Given the description of an element on the screen output the (x, y) to click on. 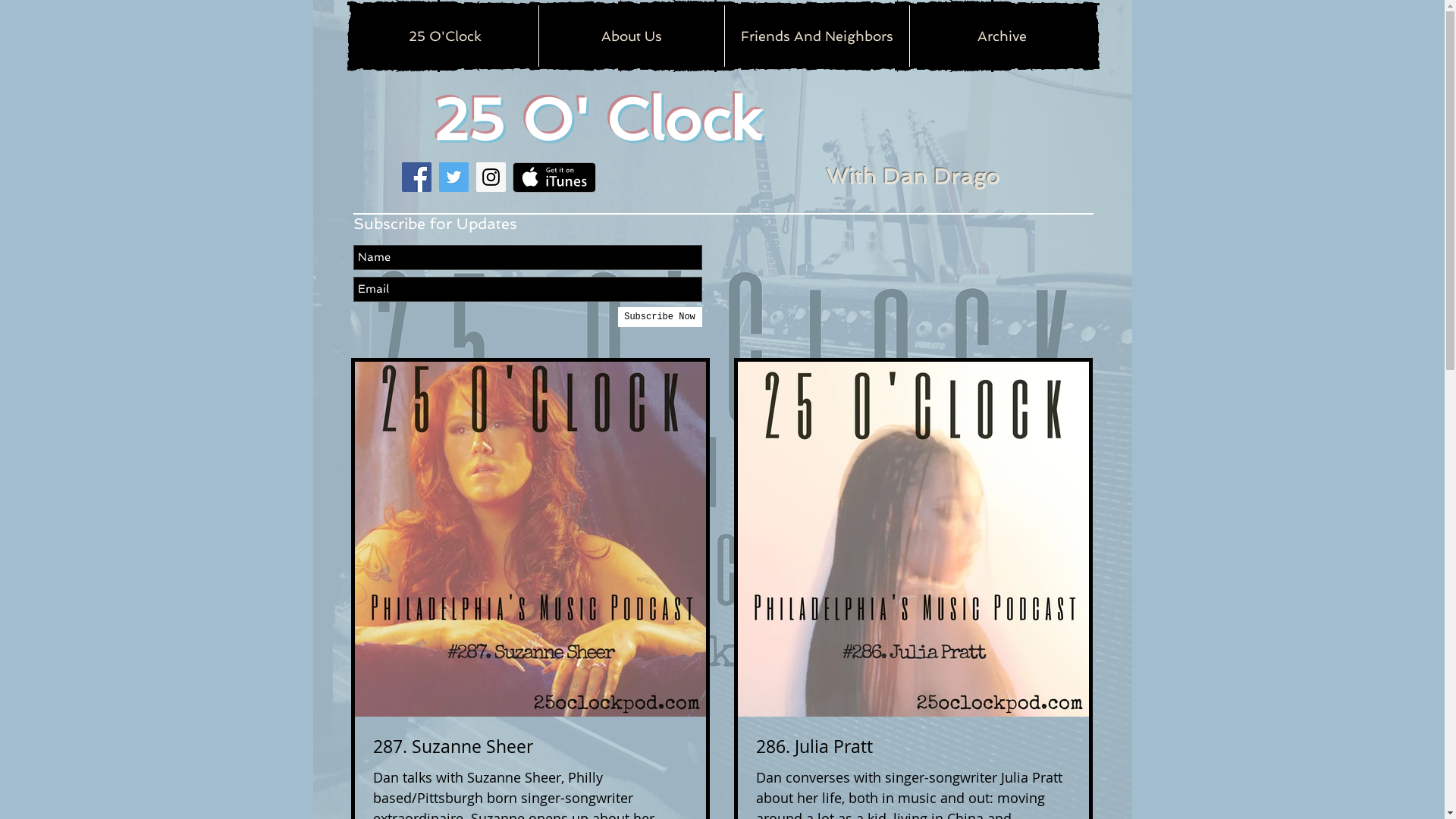
Friends And Neighbors Element type: text (815, 35)
287. Suzanne Sheer Element type: text (530, 746)
Get it on iTunes Element type: hover (554, 177)
Subscribe Now Element type: text (659, 316)
25 O'Clock Element type: text (444, 35)
About Us Element type: text (631, 35)
286. Julia Pratt Element type: text (912, 746)
Archive Element type: text (1000, 35)
